Given the description of an element on the screen output the (x, y) to click on. 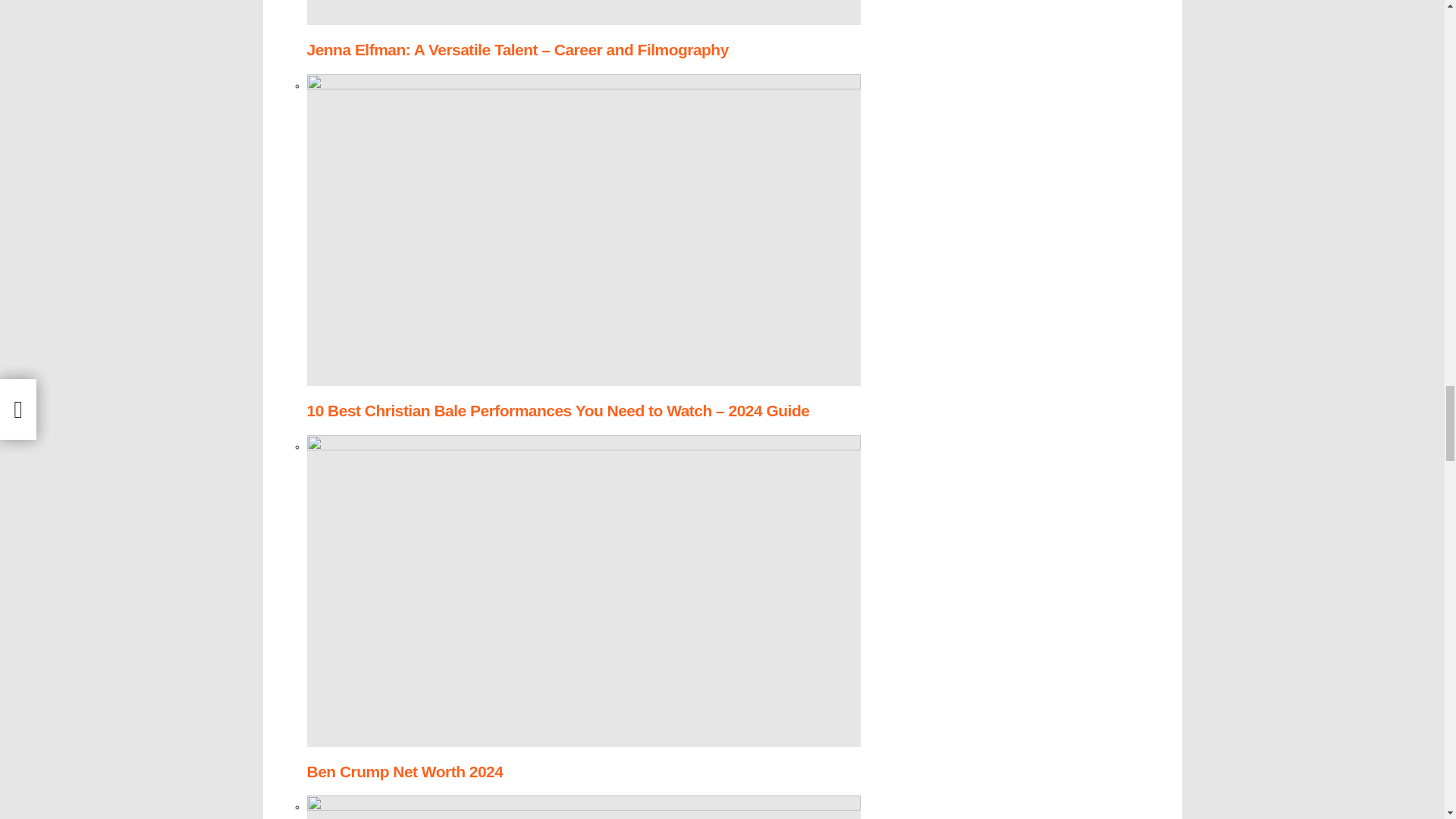
Top 10 Most Beautiful and Hottest Russian Models 2024 (582, 807)
Ben Crump Net Worth 2024 (403, 771)
